Given the description of an element on the screen output the (x, y) to click on. 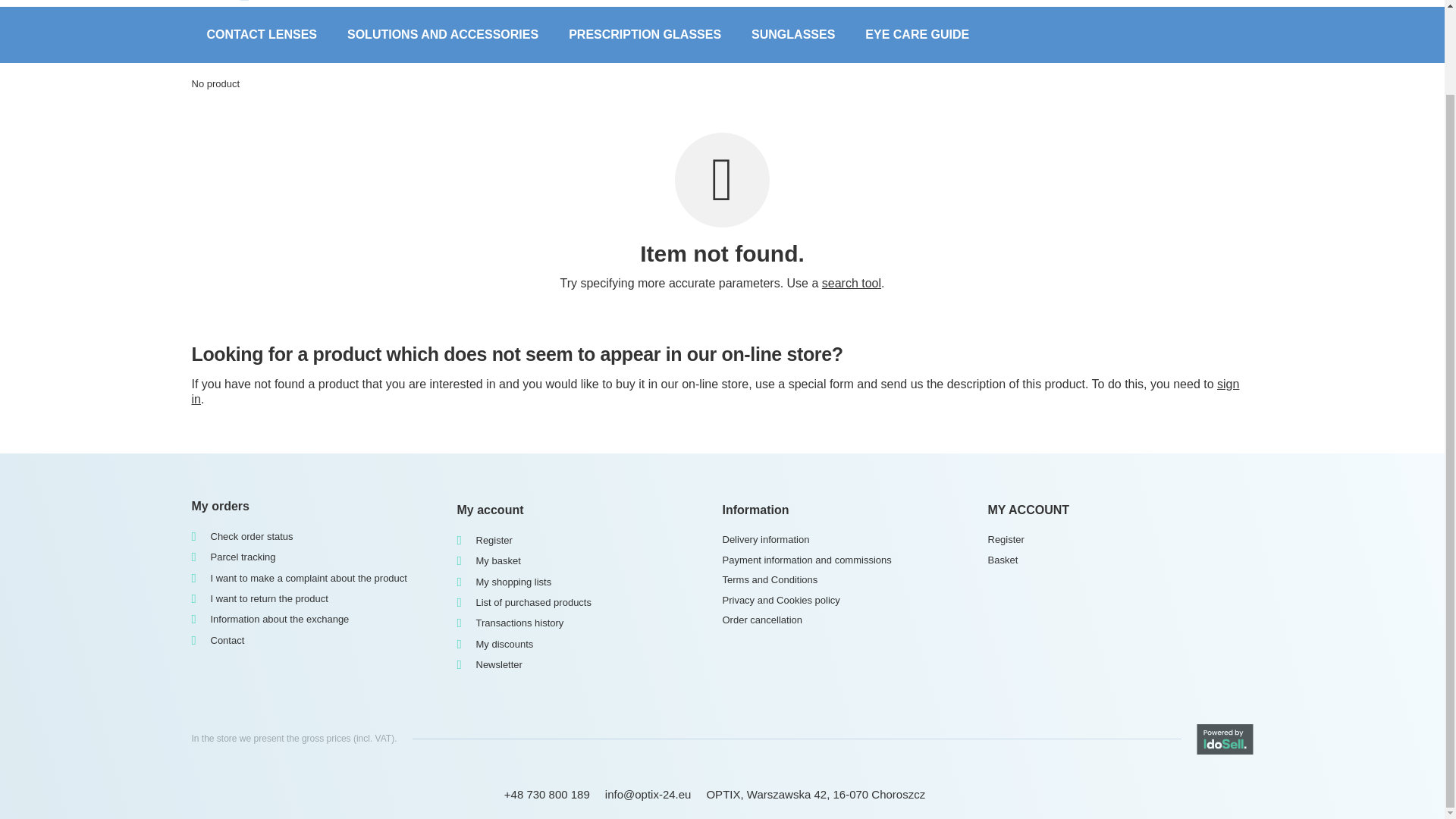
EYE CARE GUIDE (917, 34)
SUNGLASSES (793, 34)
Sunglasses (793, 34)
Solutions and accessories (442, 34)
sign in (714, 391)
search tool (851, 282)
Register (1114, 539)
PRESCRIPTION GLASSES (644, 34)
MY ACCOUNT (1119, 510)
Contact lenses (260, 34)
Prescription glasses (644, 34)
Eye care guide (917, 34)
e-store on-line program IdoSell (1224, 738)
SOLUTIONS AND ACCESSORIES (442, 34)
CONTACT LENSES (260, 34)
